Given the description of an element on the screen output the (x, y) to click on. 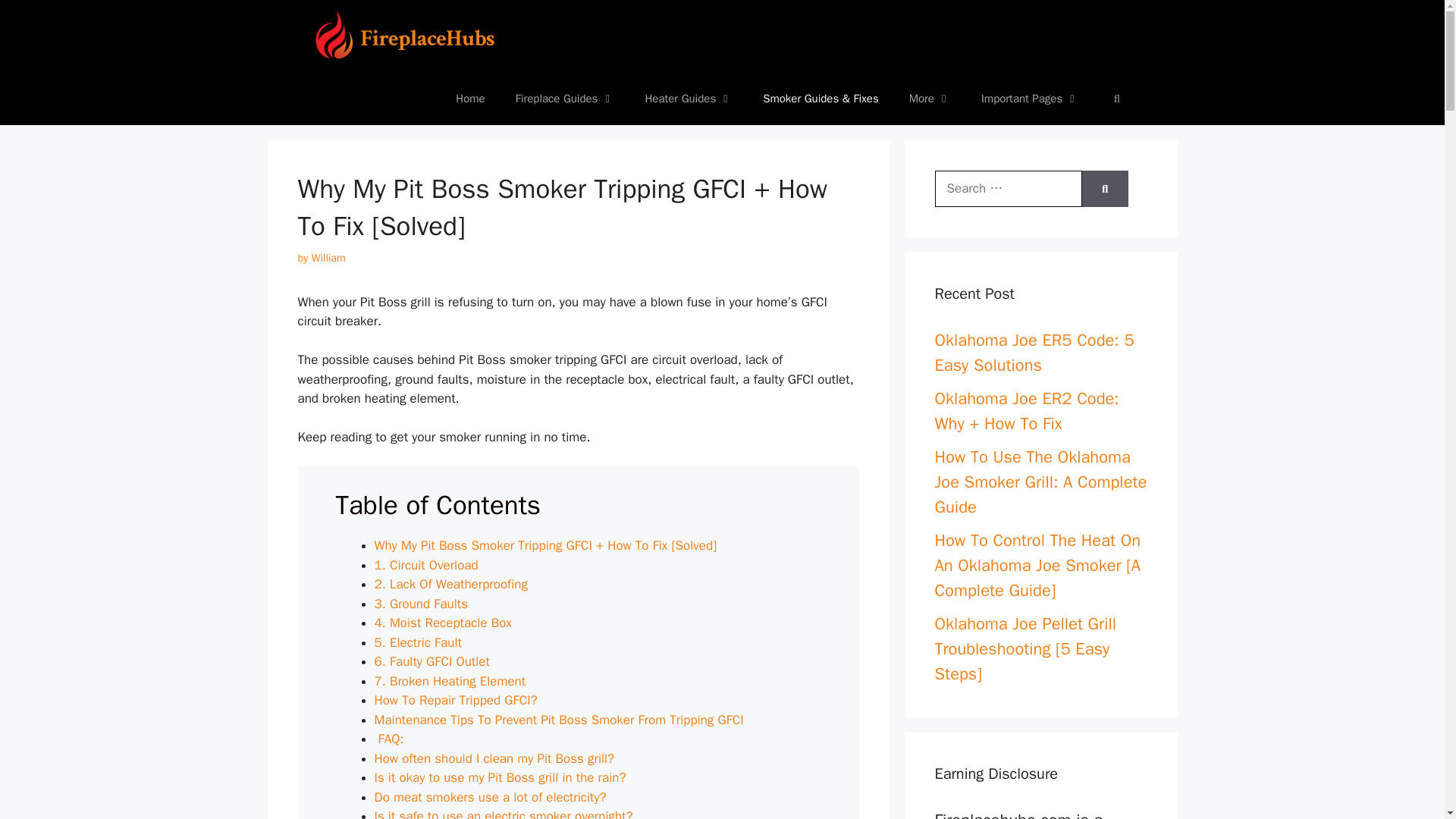
How often should I clean my Pit Boss grill? (494, 758)
View all posts by William (328, 257)
4. Moist Receptacle Box (443, 622)
Is it safe to use an electric smoker overnight? (503, 813)
More (929, 98)
7. Broken Heating Element (449, 681)
Is it okay to use my Pit Boss grill in the rain? (500, 777)
6. Faulty GFCI Outlet (431, 661)
Search for: (1007, 188)
Important Pages (1030, 98)
